Given the description of an element on the screen output the (x, y) to click on. 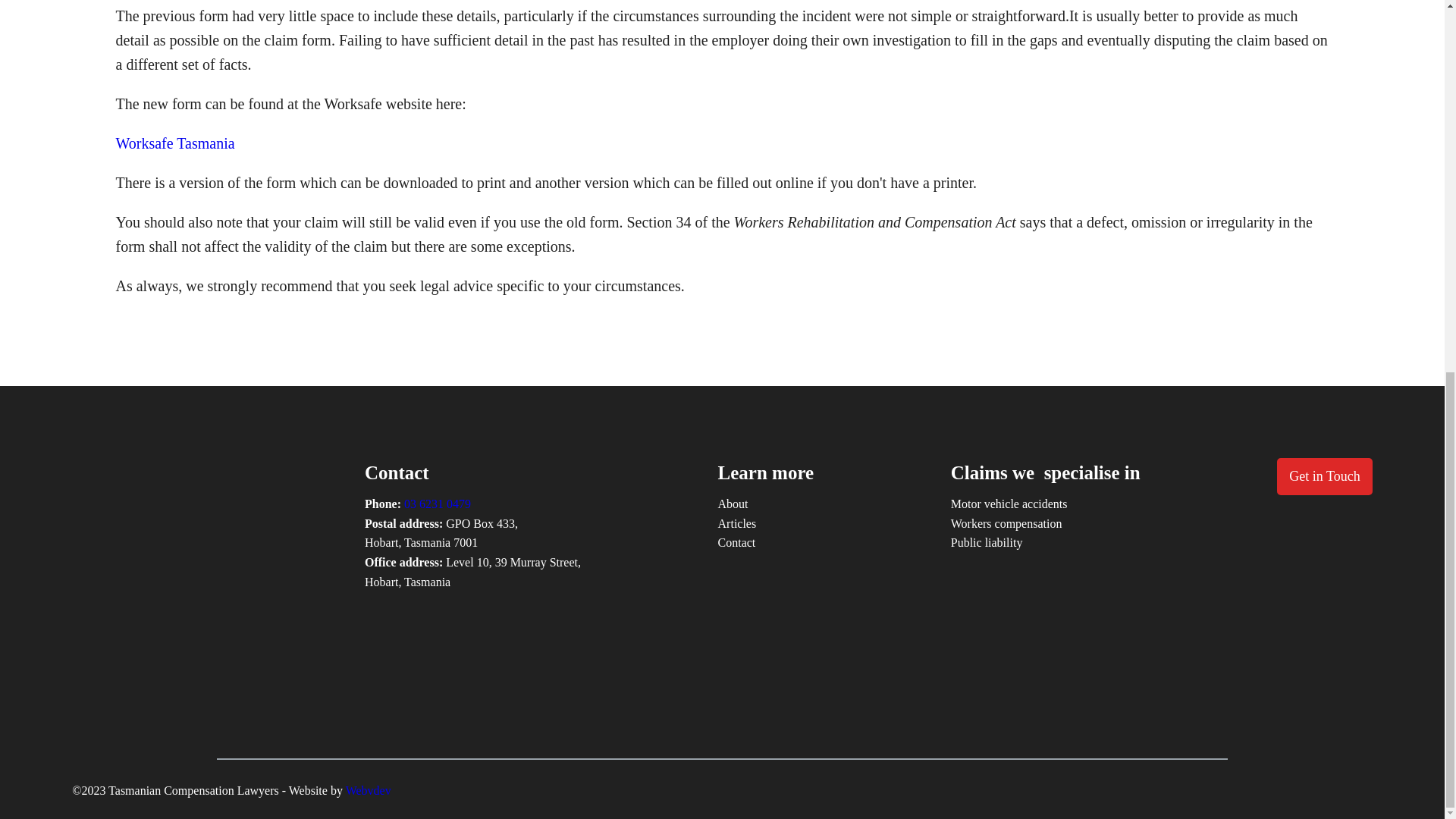
Articles (737, 523)
03 6231 0479 (437, 503)
Workers compensation (1006, 523)
Public liability (986, 542)
Worksafe Tasmania (174, 143)
About (732, 504)
Webvdev (368, 789)
Motor vehicle accidents (1008, 504)
Get in Touch (1323, 476)
Contact (736, 542)
